Given the description of an element on the screen output the (x, y) to click on. 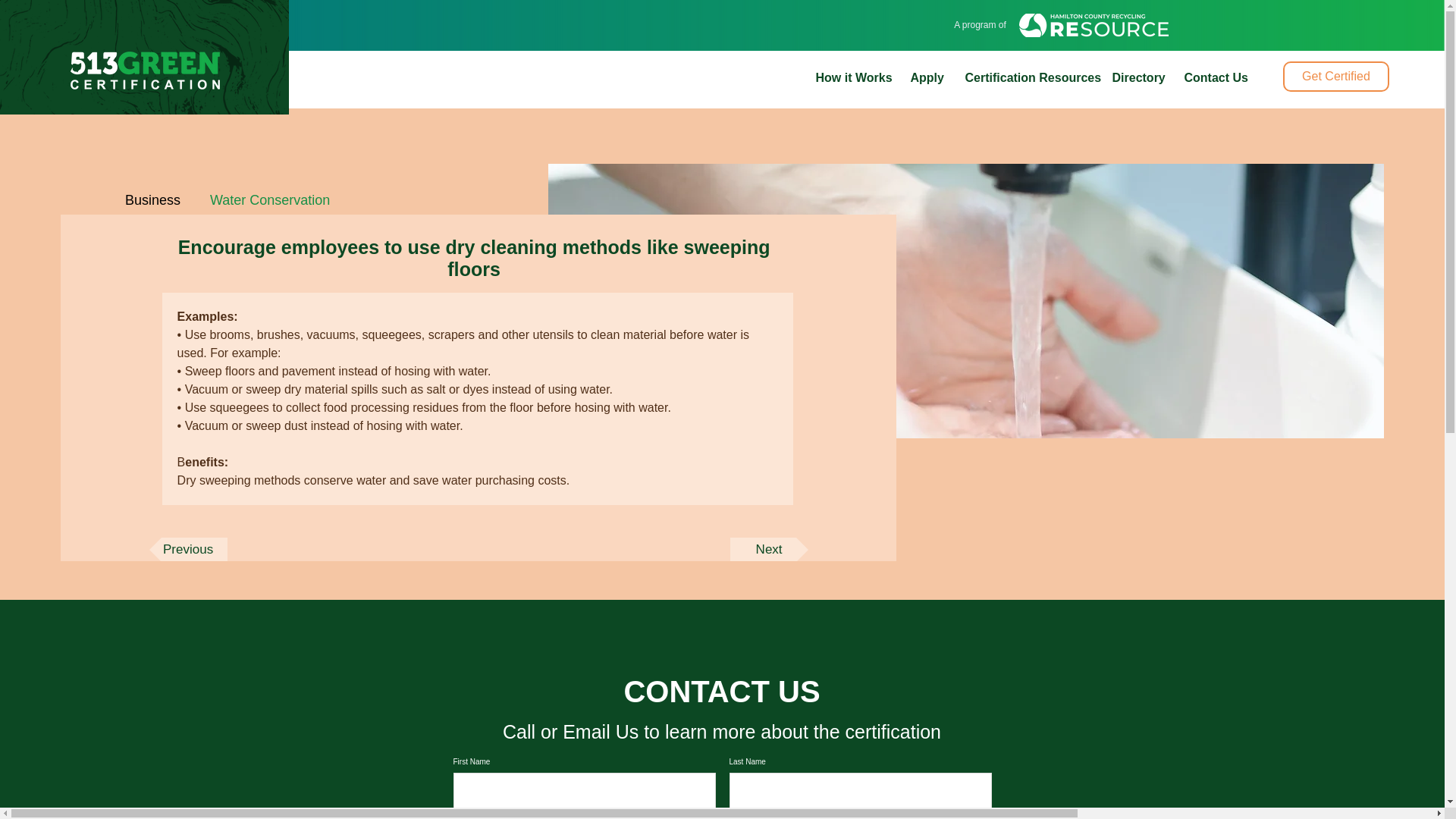
Apply (926, 77)
Next (769, 549)
Previous (188, 549)
Contact Us (1212, 77)
Certification Resources (1026, 77)
How it Works (850, 77)
Directory (1136, 77)
Get Certified (1335, 76)
